Given the description of an element on the screen output the (x, y) to click on. 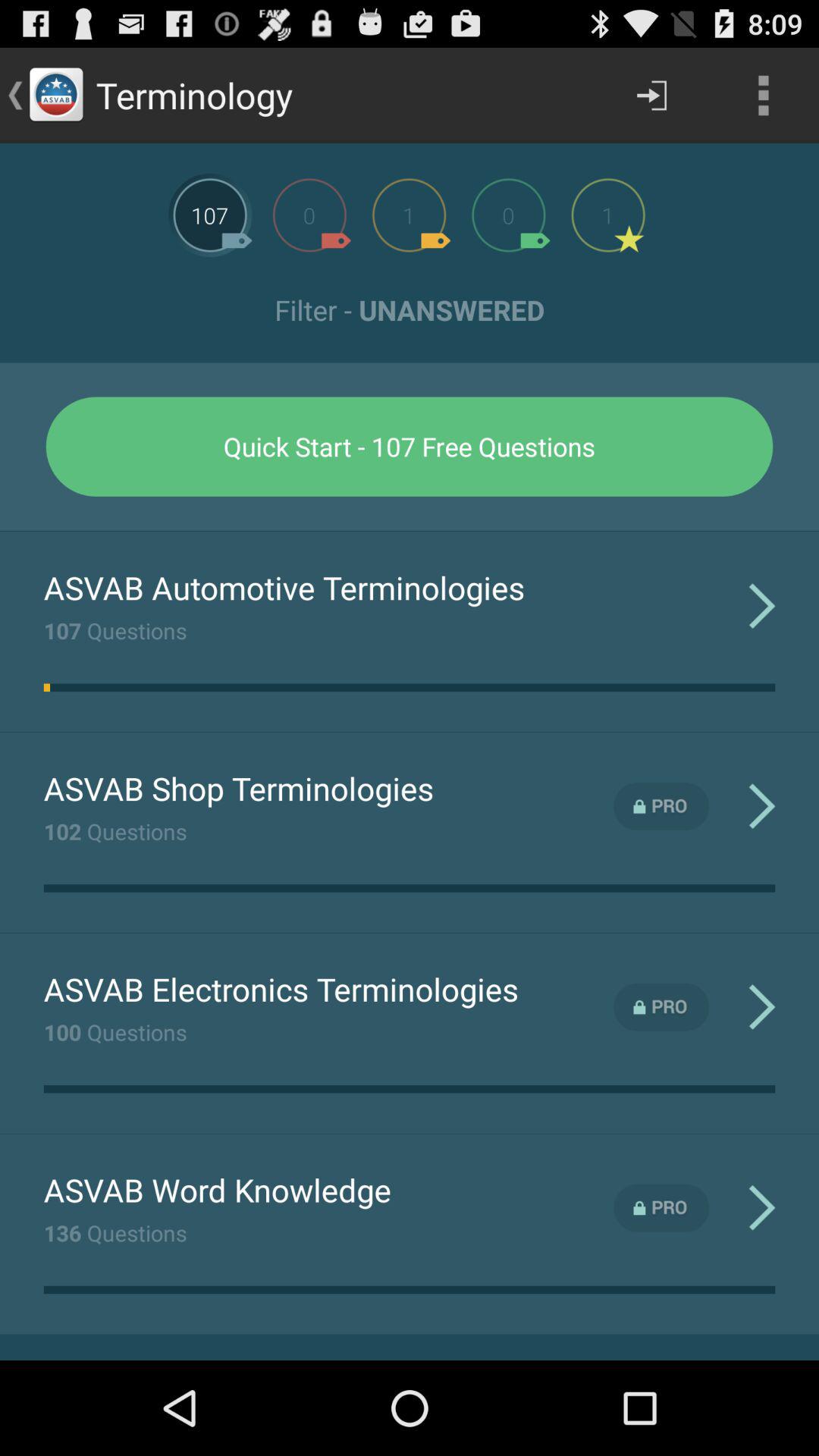
select the item below the 100 questions item (217, 1189)
